Given the description of an element on the screen output the (x, y) to click on. 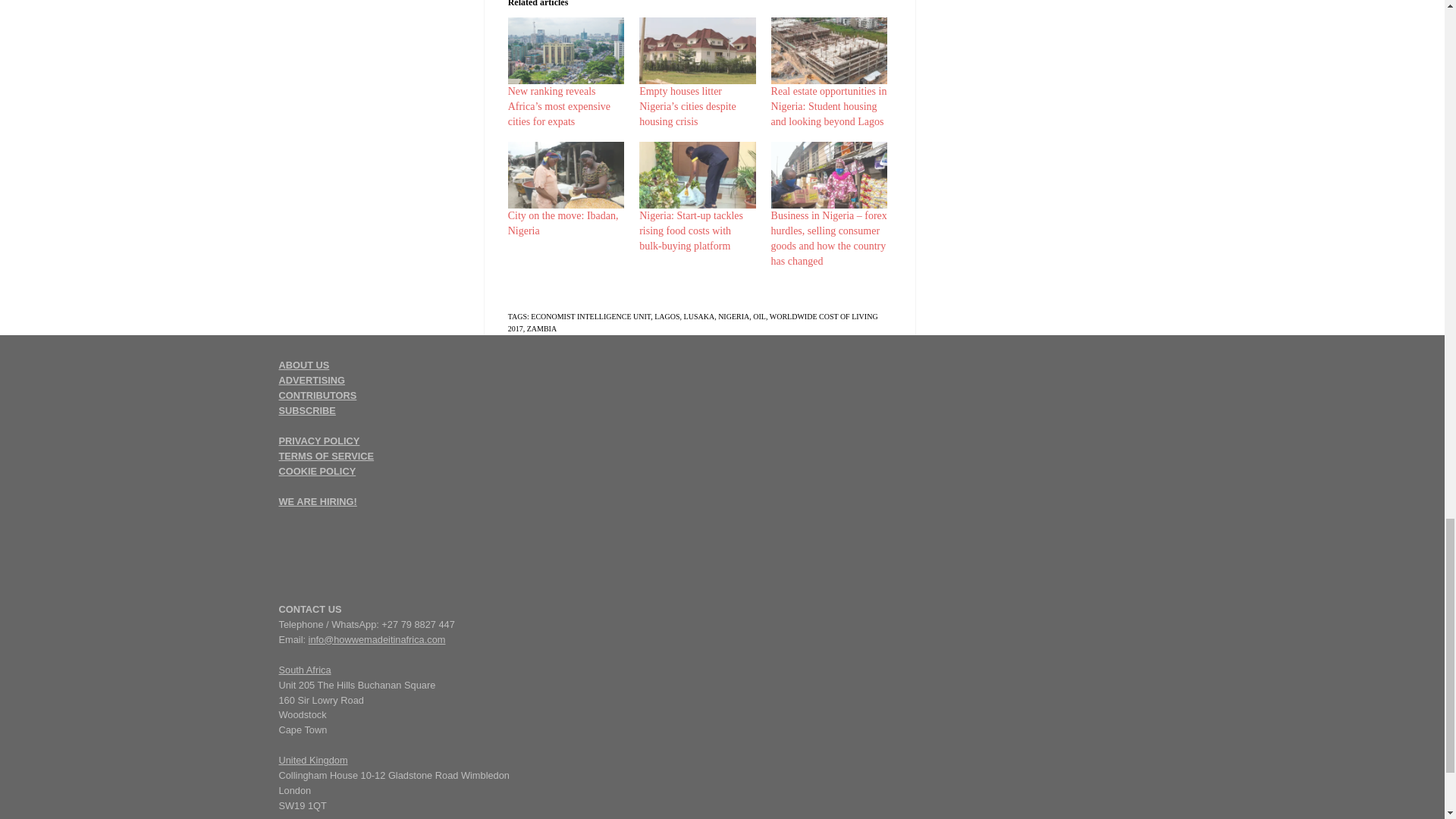
City on the move: Ibadan, Nigeria (566, 174)
City on the move: Ibadan, Nigeria (563, 222)
